Given the description of an element on the screen output the (x, y) to click on. 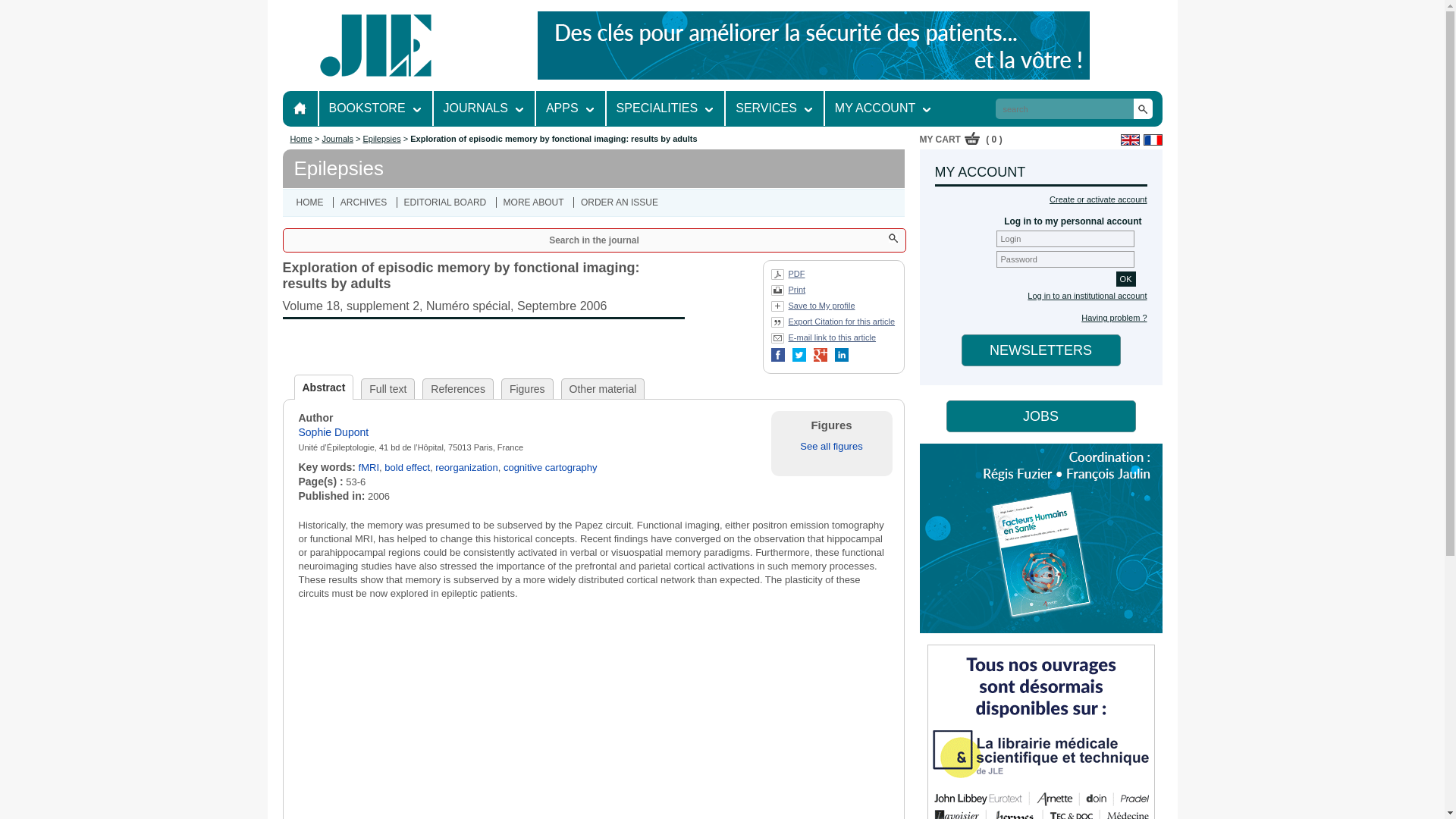
OK (1125, 278)
Imprimer l'article (787, 292)
Voir le sommaire de cette parution (483, 301)
HOME (299, 108)
JOURNALS (476, 108)
Version PDF : Document dans sa version PDF (787, 276)
Citer cet article (832, 324)
BOOKSTORE (367, 108)
English version (1130, 139)
